Given the description of an element on the screen output the (x, y) to click on. 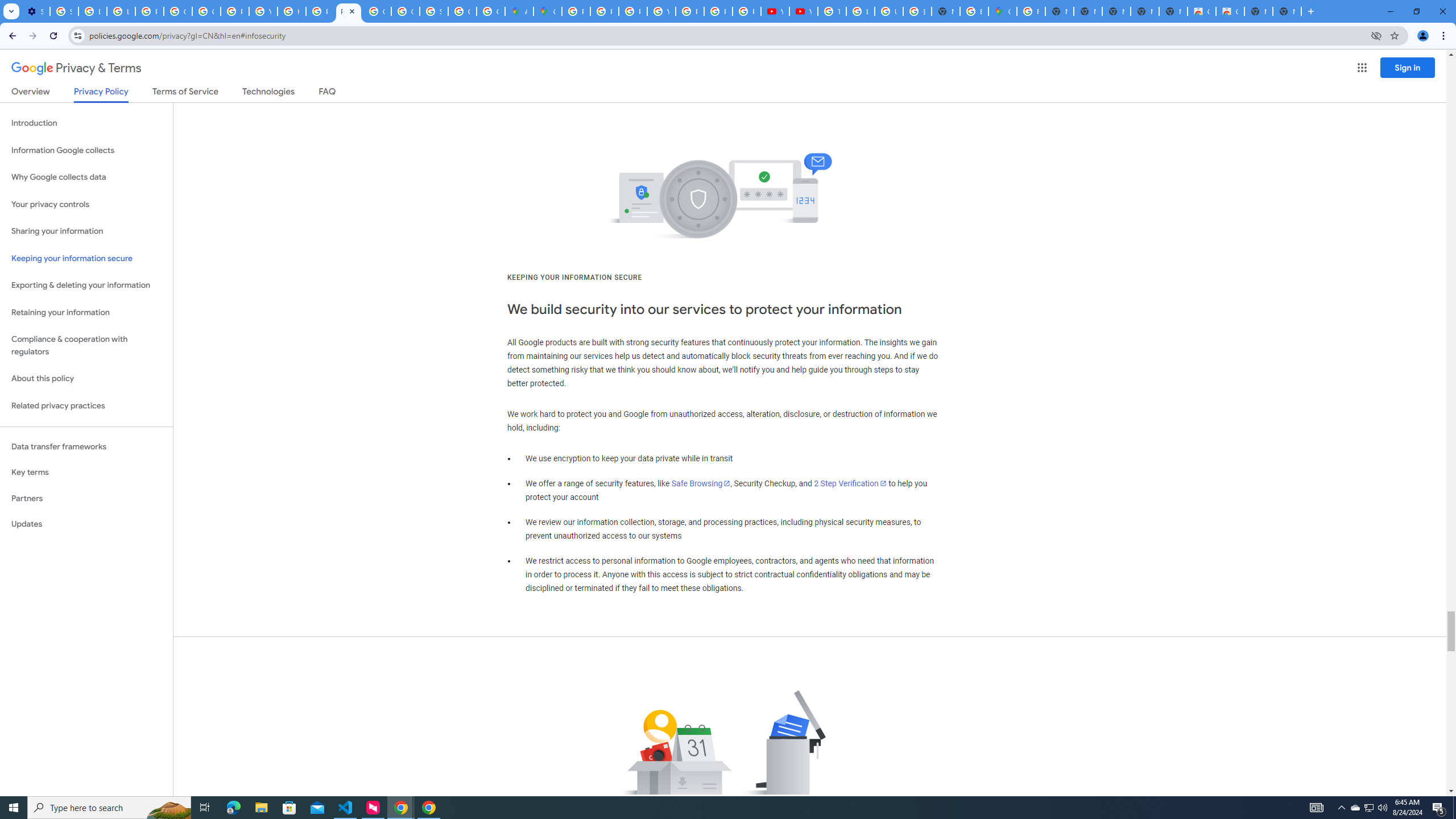
Exporting & deleting your information (86, 284)
Privacy Help Center - Policies Help (320, 11)
Information Google collects (86, 150)
Google Account Help (206, 11)
Your privacy controls (86, 204)
YouTube (661, 11)
YouTube (774, 11)
Create your Google Account (490, 11)
